Given the description of an element on the screen output the (x, y) to click on. 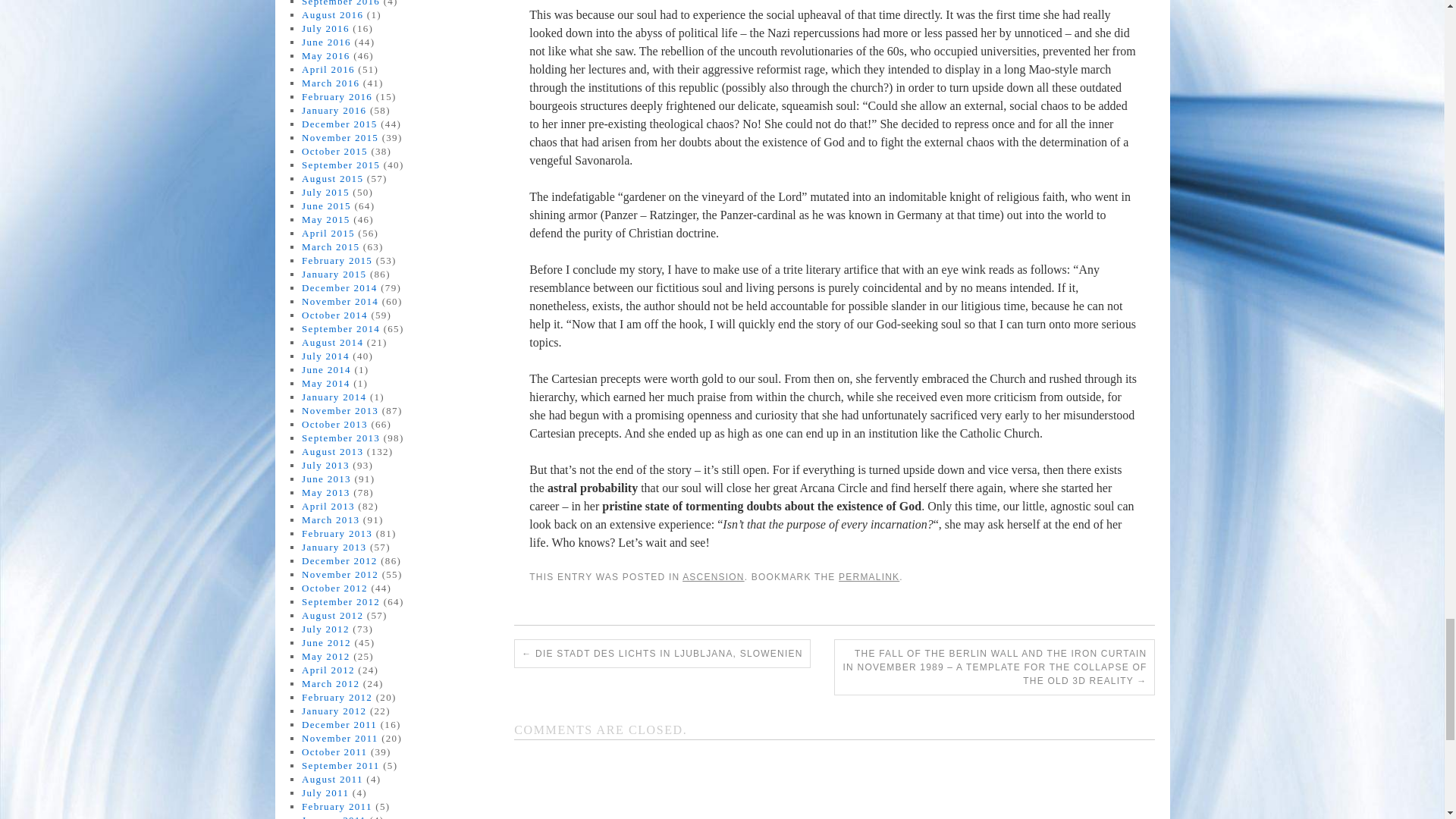
ASCENSION (713, 576)
Permalink to The Story of the Young Soul Who Became a Pope (868, 576)
PERMALINK (868, 576)
